Given the description of an element on the screen output the (x, y) to click on. 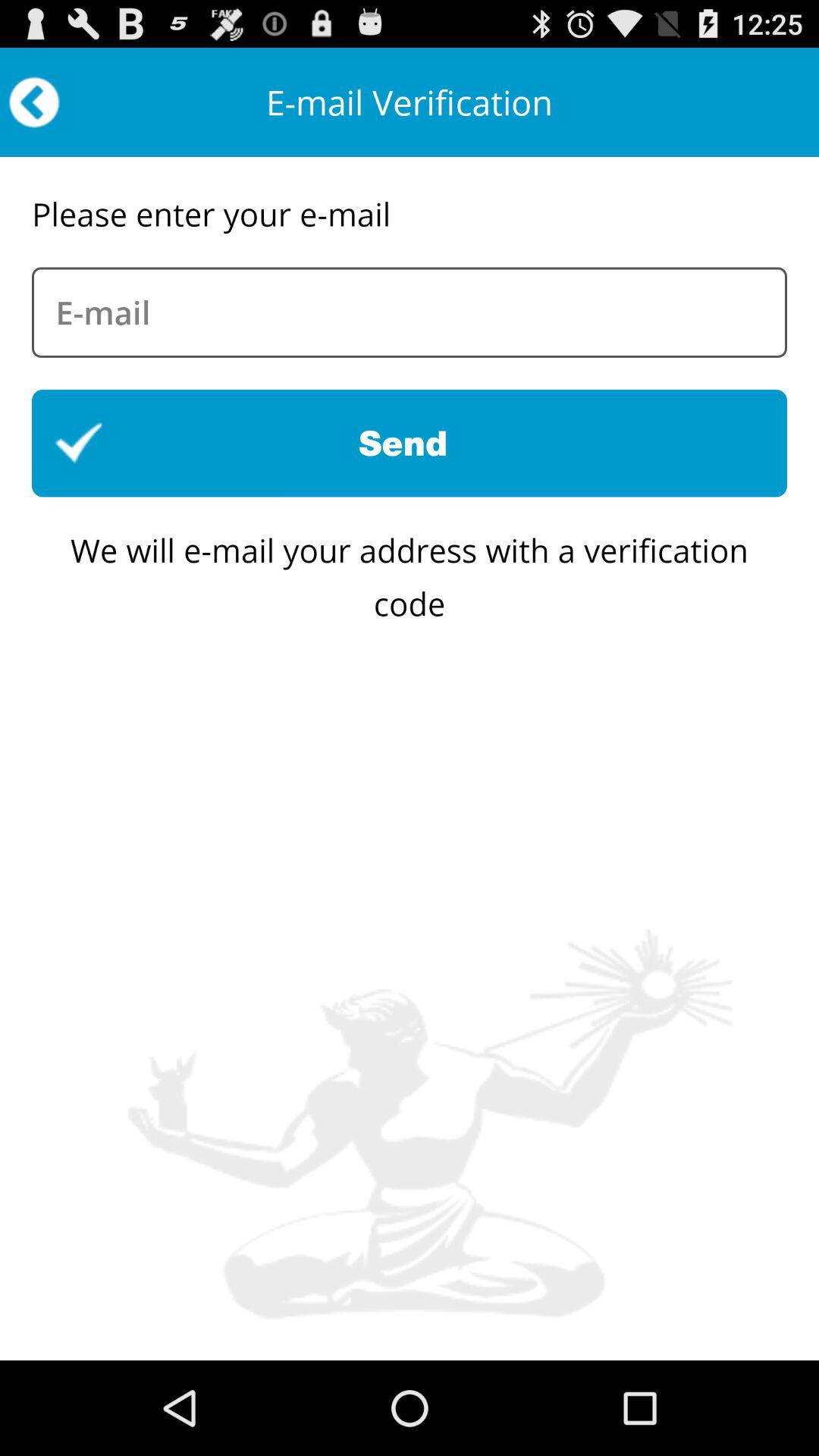
add email address (409, 312)
